Given the description of an element on the screen output the (x, y) to click on. 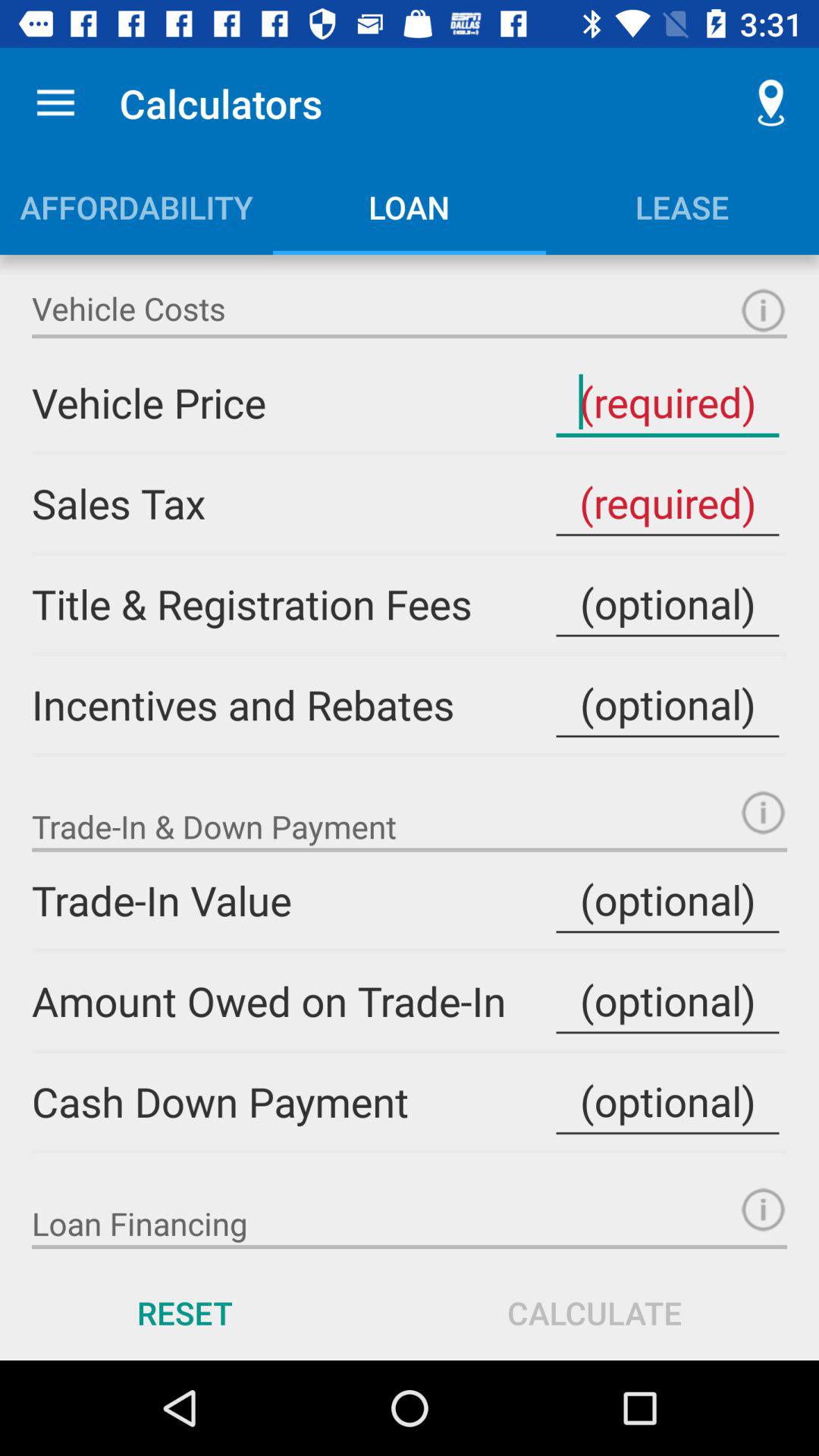
activate textbox (667, 603)
